Given the description of an element on the screen output the (x, y) to click on. 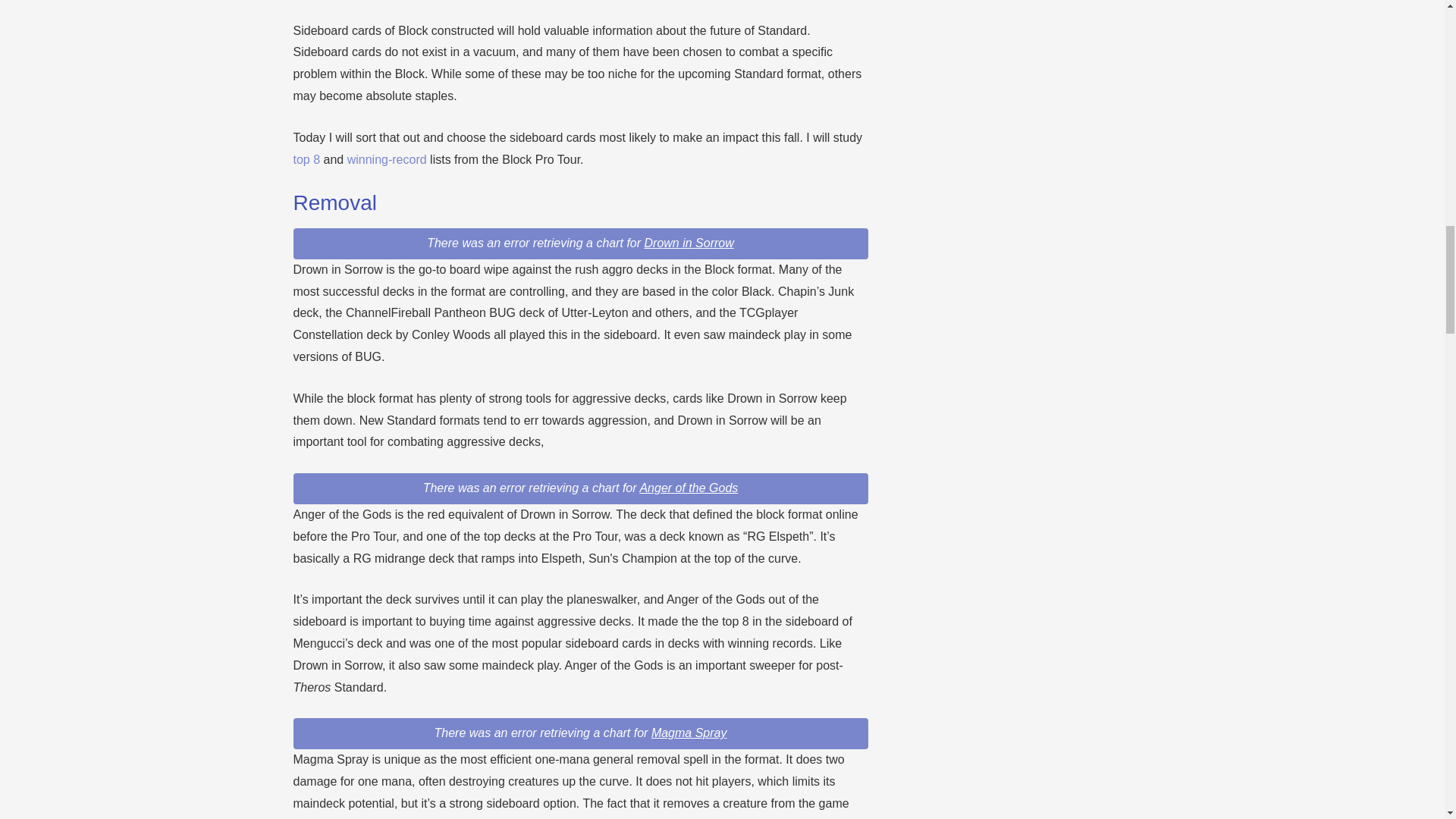
Drown in Sorrow (689, 242)
top 8 (306, 159)
Magma Spray (688, 732)
Anger of the Gods (688, 487)
winning-record (386, 159)
